Given the description of an element on the screen output the (x, y) to click on. 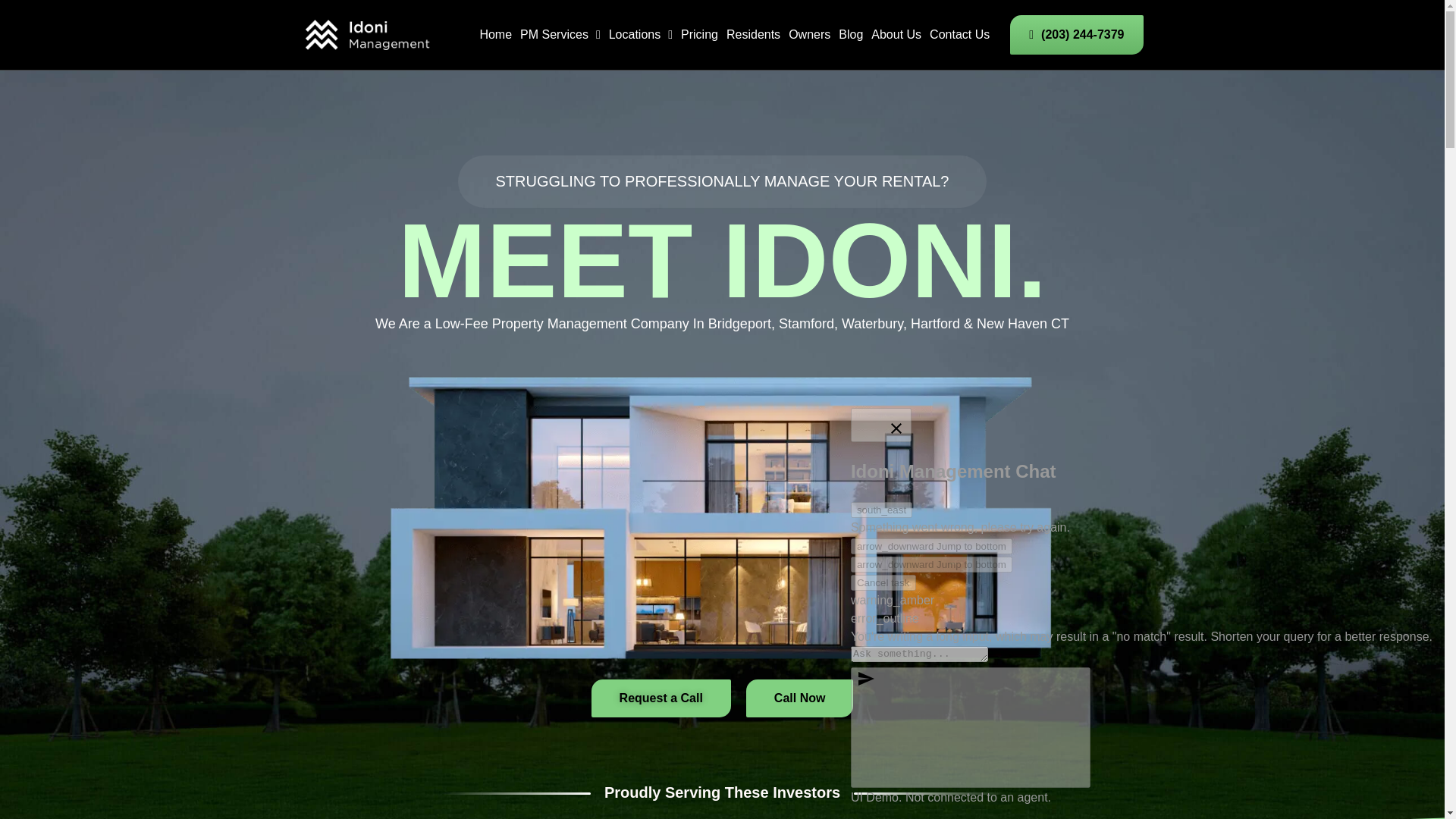
Owners (809, 34)
Blog (850, 34)
Locations (640, 34)
Pricing (699, 34)
Residents (753, 34)
Home (495, 34)
Contact Us (960, 34)
About Us (895, 34)
PM Services (559, 34)
